Given the description of an element on the screen output the (x, y) to click on. 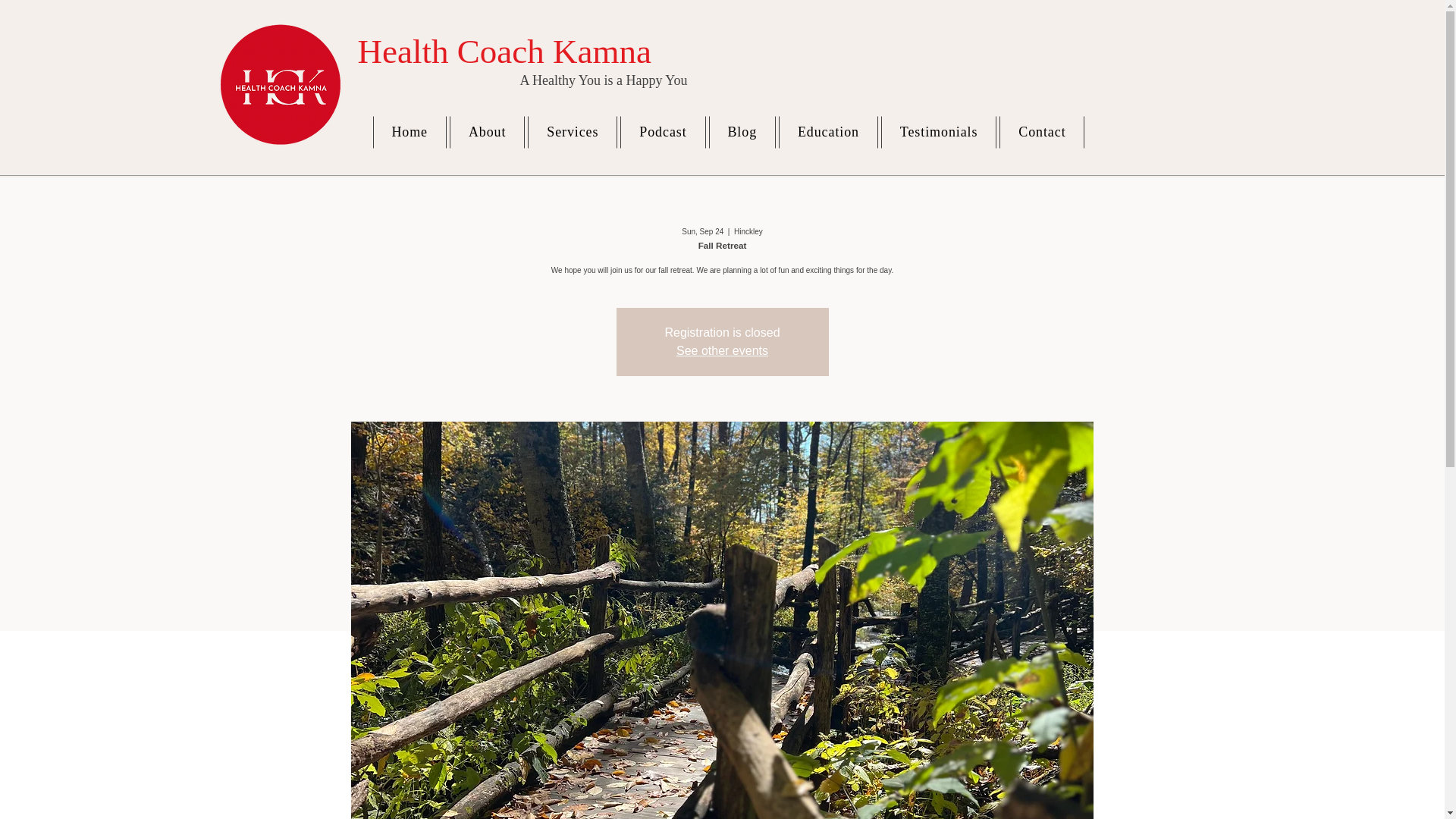
Podcast (662, 132)
Testimonials (937, 132)
Blog (742, 132)
Home (409, 132)
Services (572, 132)
Education (827, 132)
See other events (722, 350)
About (486, 132)
Contact (1041, 132)
